Given the description of an element on the screen output the (x, y) to click on. 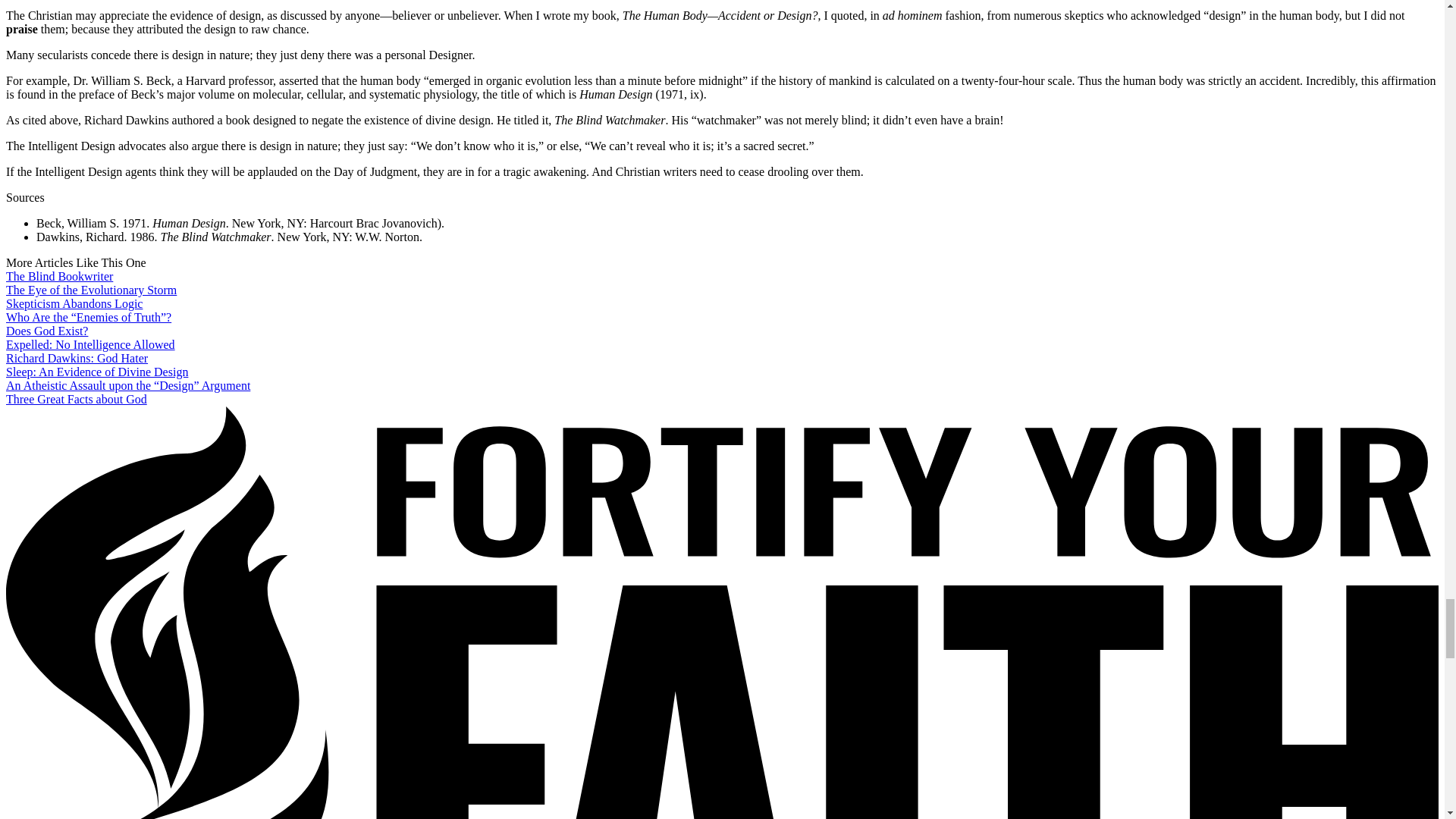
The Eye of the Evolutionary Storm (90, 289)
Three Great Facts about God (76, 399)
Richard Dawkins: God Hater (76, 358)
Expelled: No Intelligence Allowed (89, 344)
The Blind Bookwriter (59, 276)
Does God Exist? (46, 330)
Skepticism Abandons Logic (73, 303)
Sleep: An Evidence of Divine Design (96, 371)
